Given the description of an element on the screen output the (x, y) to click on. 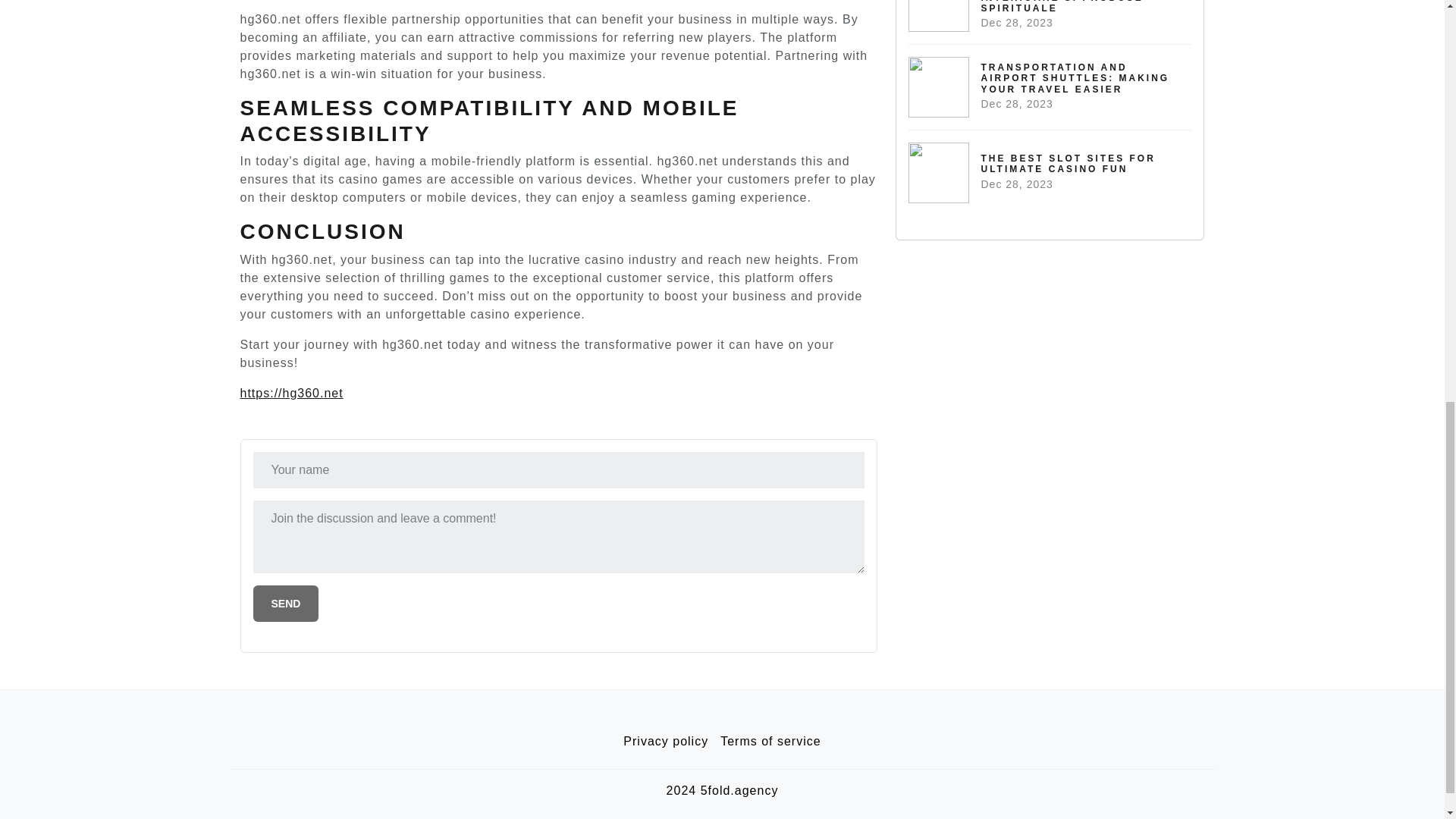
Privacy policy (665, 741)
Send (1050, 172)
Terms of service (285, 603)
Send (770, 741)
